Given the description of an element on the screen output the (x, y) to click on. 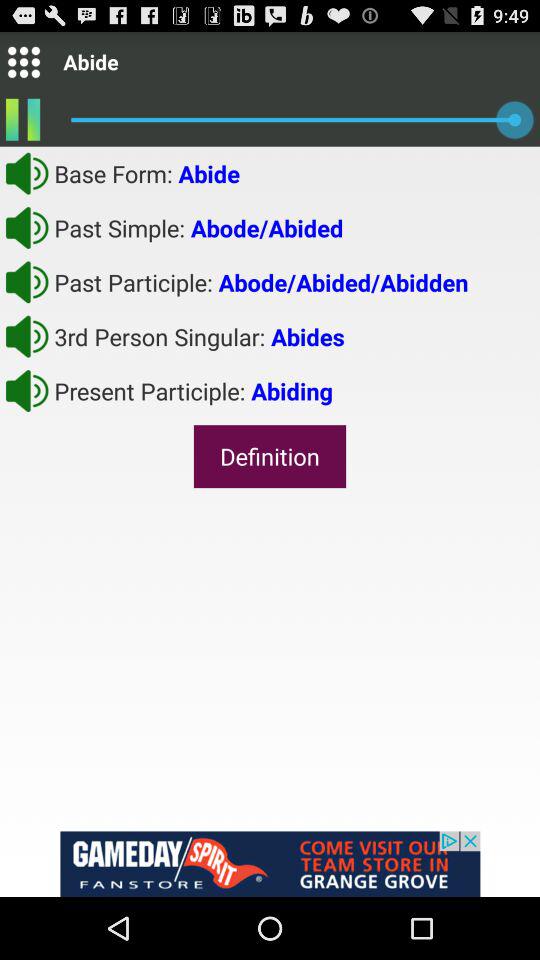
for audio (27, 336)
